Given the description of an element on the screen output the (x, y) to click on. 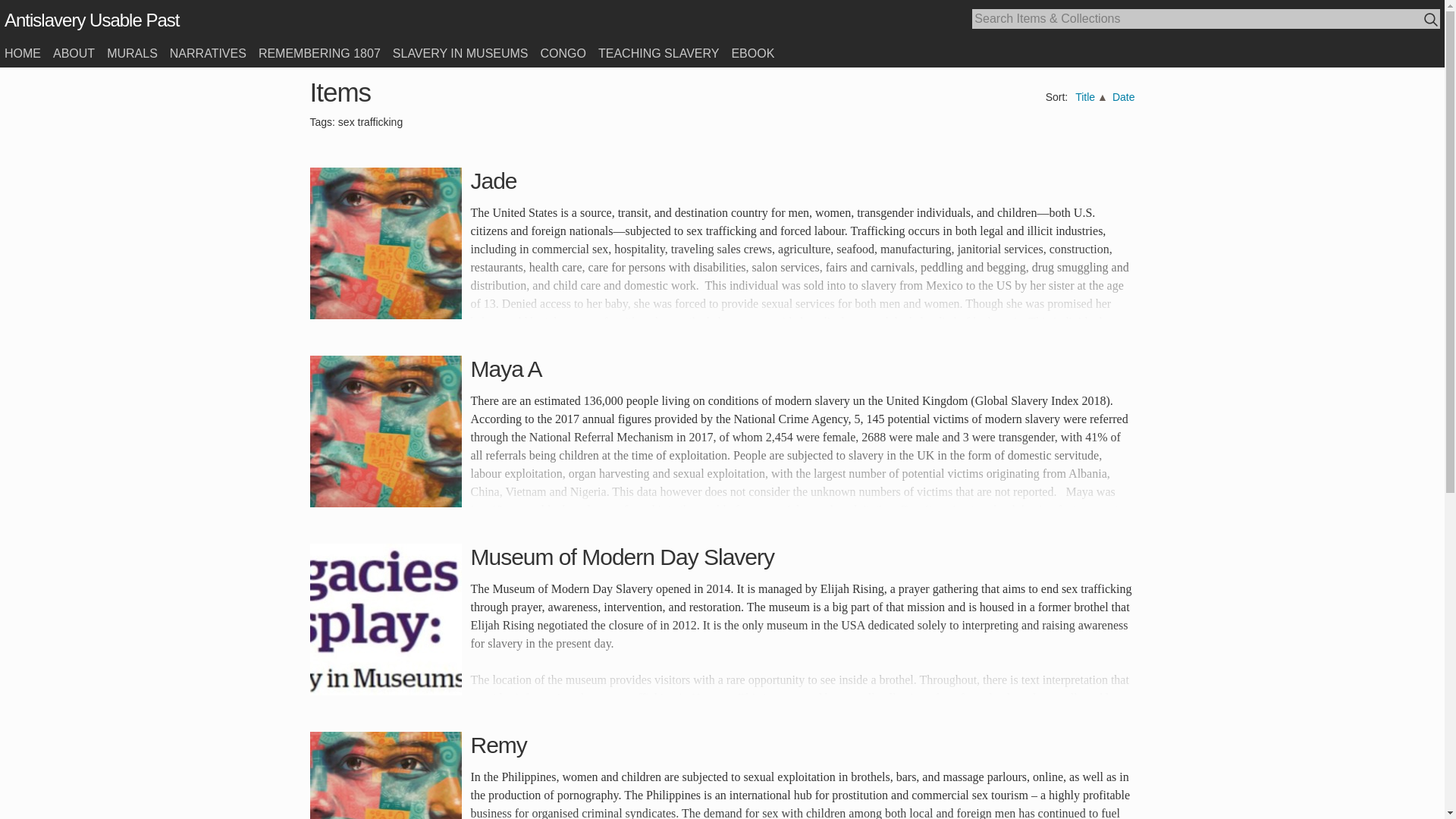
narrative image.png (384, 775)
Search (1431, 19)
narrative image.png (384, 430)
narrative image.png (384, 243)
LOGO.jpg (384, 619)
TEACHING SLAVERY (658, 52)
Date (1123, 96)
Title (1084, 96)
Search (1431, 19)
Search (1430, 19)
NARRATIVES (208, 52)
ABOUT (73, 52)
Antislavery Usable Past (91, 19)
HOME (22, 52)
CONGO (563, 52)
